Given the description of an element on the screen output the (x, y) to click on. 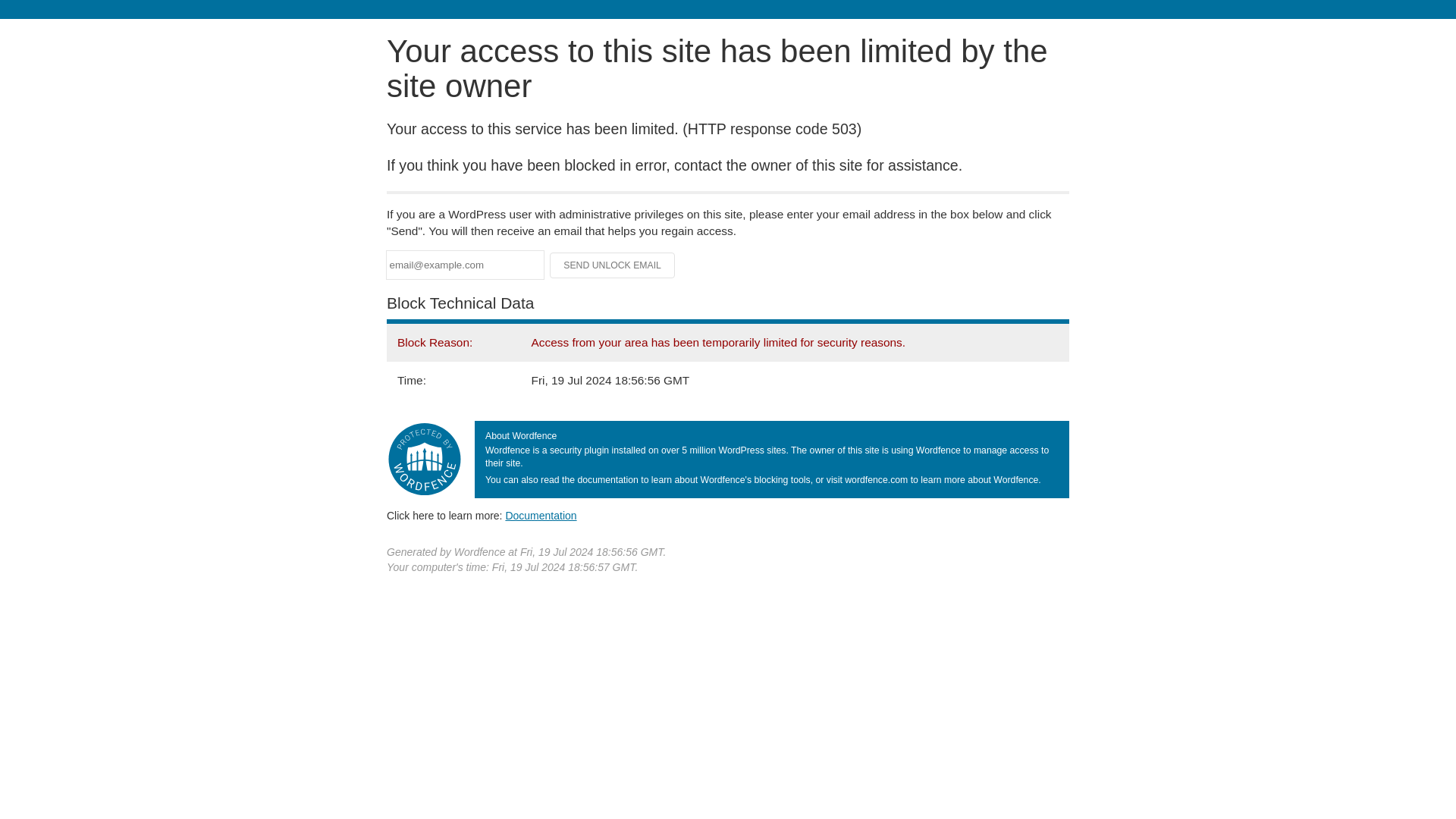
Send Unlock Email (612, 265)
Send Unlock Email (612, 265)
Documentation (540, 515)
